Given the description of an element on the screen output the (x, y) to click on. 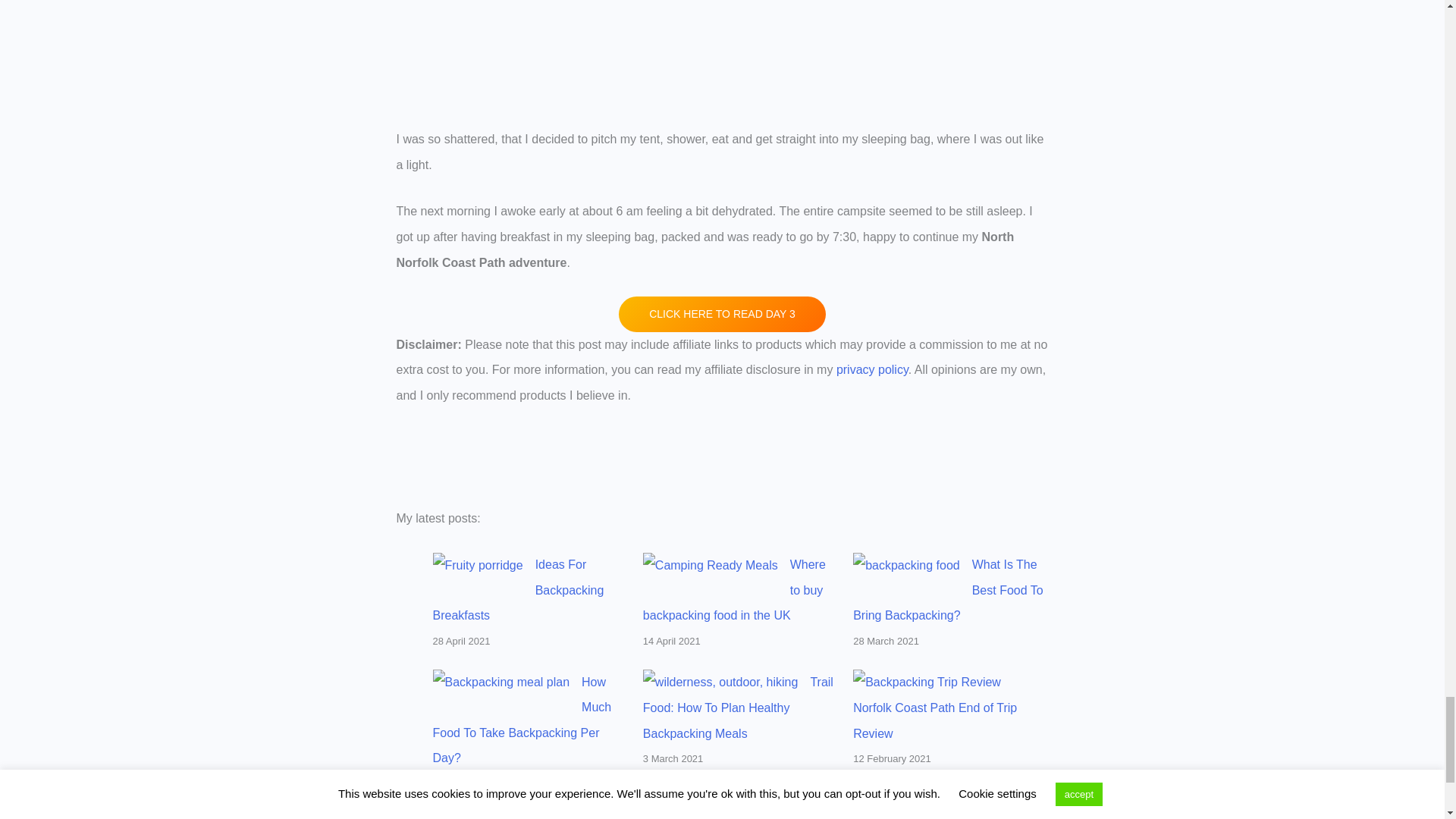
How Much Food To Take Backpacking Per Day? (521, 719)
privacy policy (871, 369)
What Is The Best Food To Bring Backpacking? (948, 589)
Where to buy backpacking food in the UK (734, 589)
Norfolk Coast Path End of Trip Review (934, 720)
Trail Food: How To Plan Healthy Backpacking Meals (737, 707)
CLICK HERE TO READ DAY 3 (721, 314)
Ideas For Backpacking Breakfasts (518, 589)
